Given the description of an element on the screen output the (x, y) to click on. 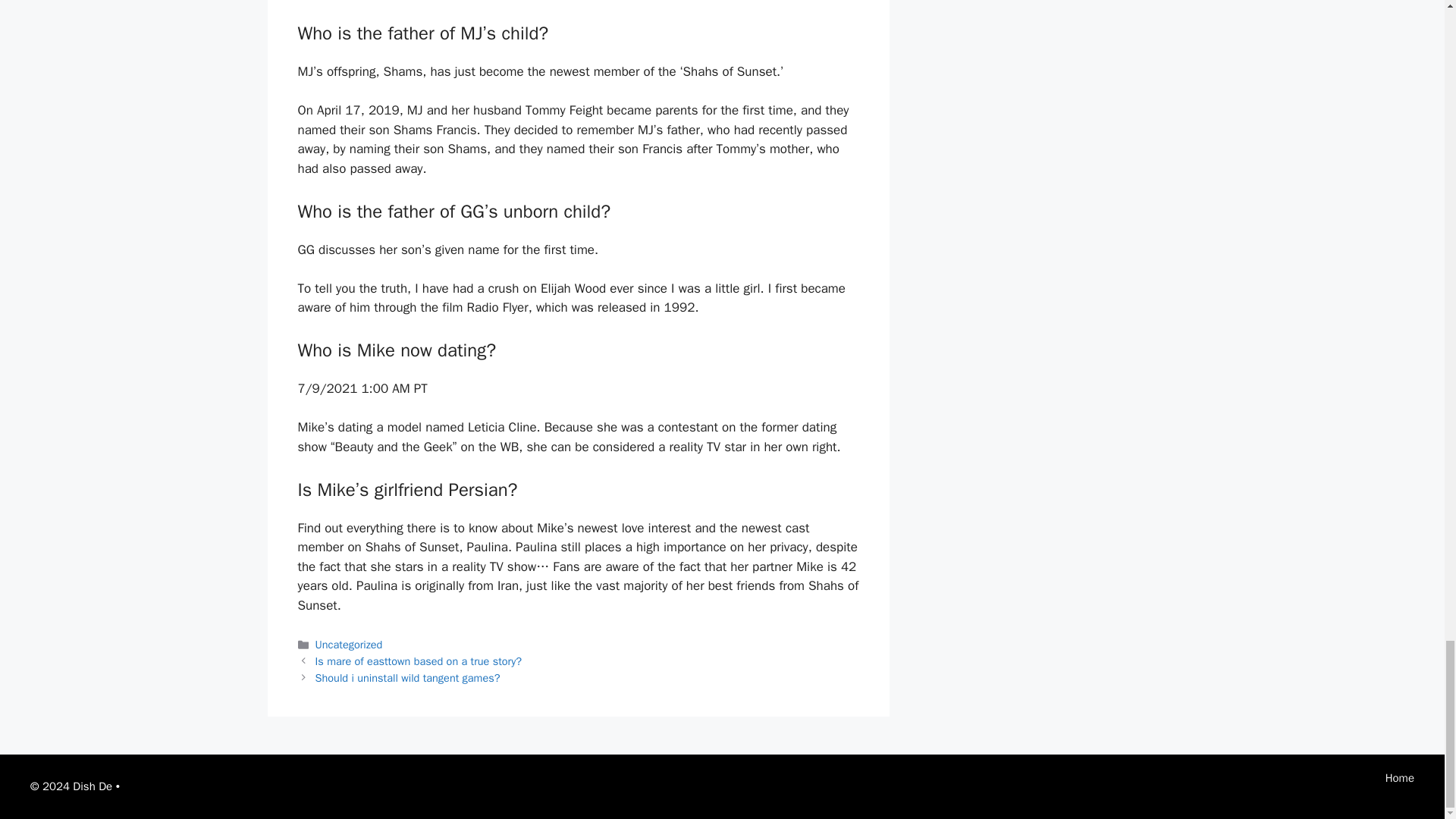
Should i uninstall wild tangent games? (407, 677)
Is mare of easttown based on a true story? (418, 661)
Home (1399, 777)
Previous (418, 661)
Next (407, 677)
Uncategorized (348, 644)
